Given the description of an element on the screen output the (x, y) to click on. 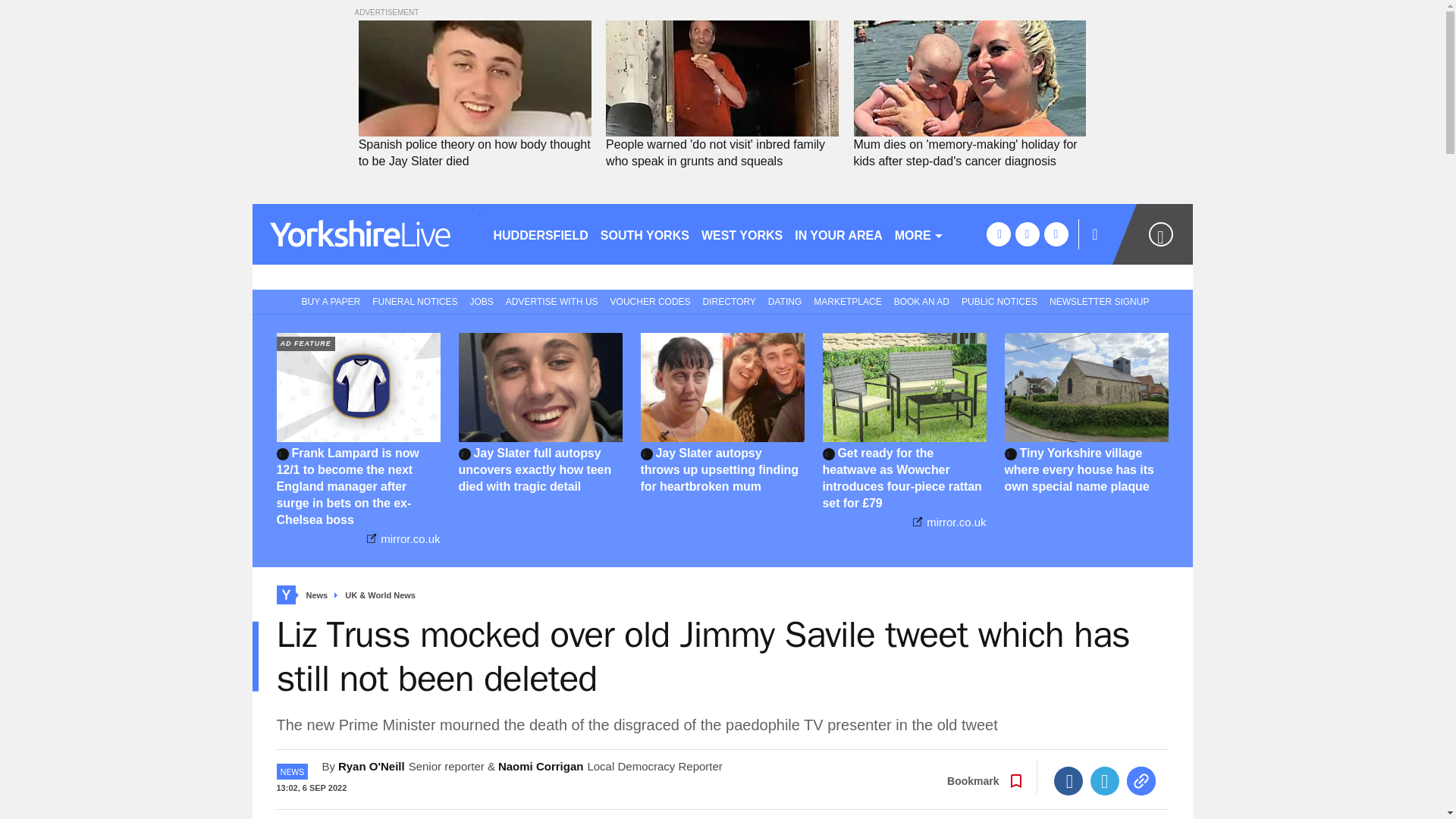
instagram (1055, 233)
Facebook (1068, 780)
huddersfieldexaminer (365, 233)
MORE (919, 233)
twitter (1026, 233)
WEST YORKS (742, 233)
SOUTH YORKS (644, 233)
HUDDERSFIELD (540, 233)
